Given the description of an element on the screen output the (x, y) to click on. 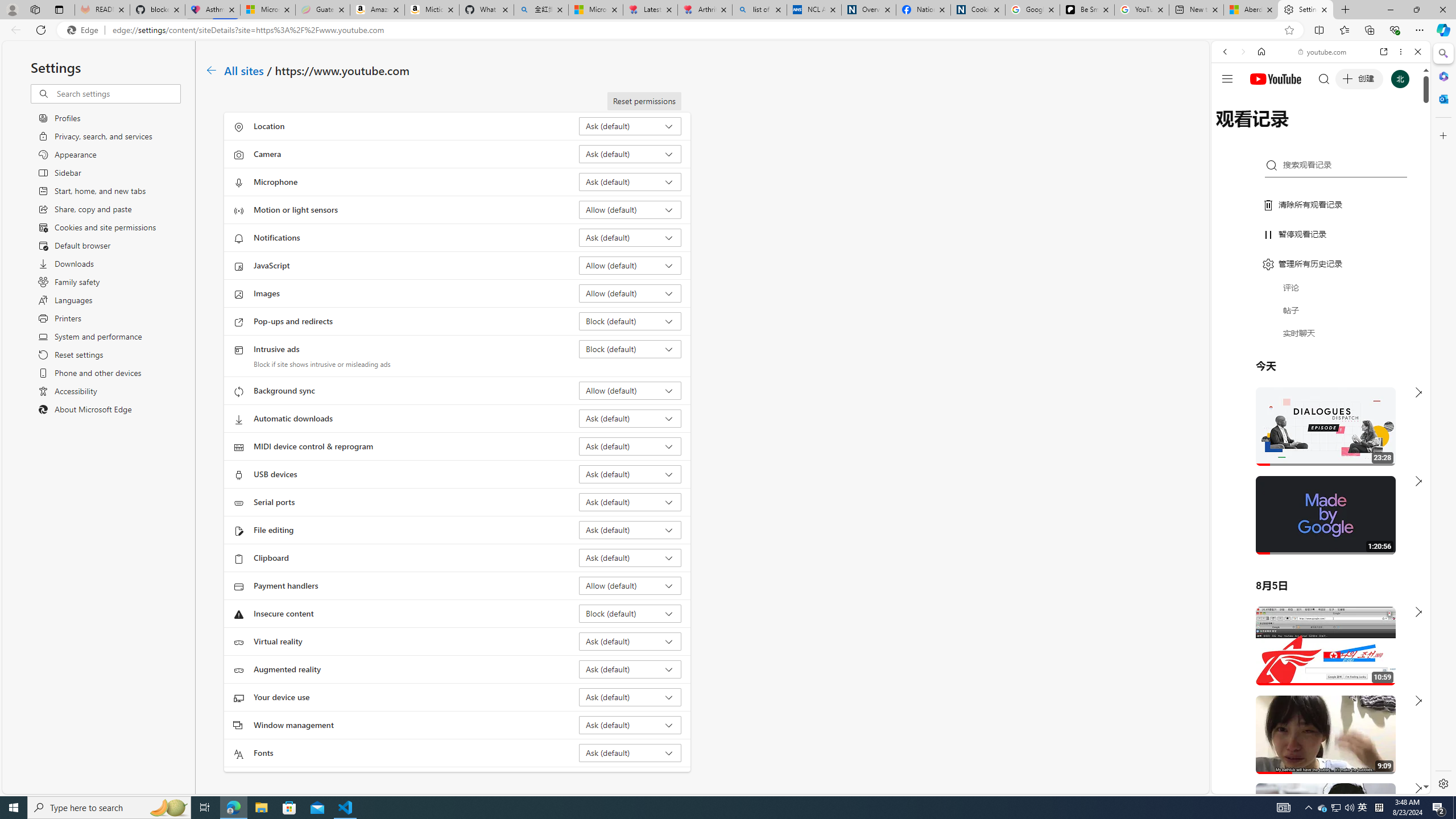
JavaScript Allow (default) (630, 265)
Search settings (117, 93)
MIDI device control & reprogram Ask (default) (630, 446)
US[ju] (1249, 785)
